Given the description of an element on the screen output the (x, y) to click on. 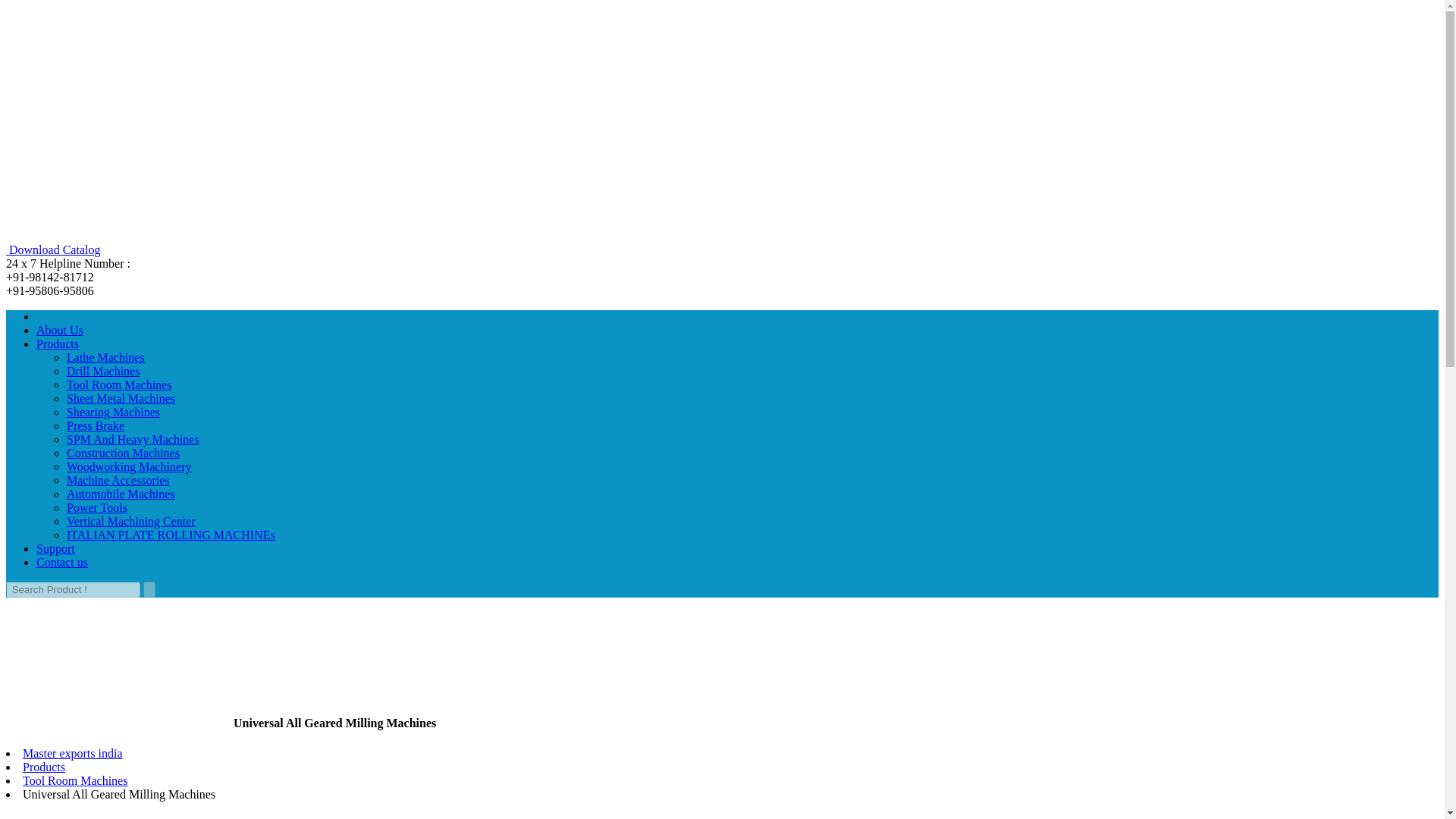
Products (44, 766)
Sheet Metal Machines (120, 398)
Machine Accessories (118, 480)
Lathe Machines (105, 357)
Shearing Machines (113, 411)
ITALIAN PLATE ROLLING MACHINEs (170, 534)
Power Tools (97, 507)
Contact us (61, 562)
SPM And Heavy Machines (132, 439)
Press Brake (94, 425)
